Given the description of an element on the screen output the (x, y) to click on. 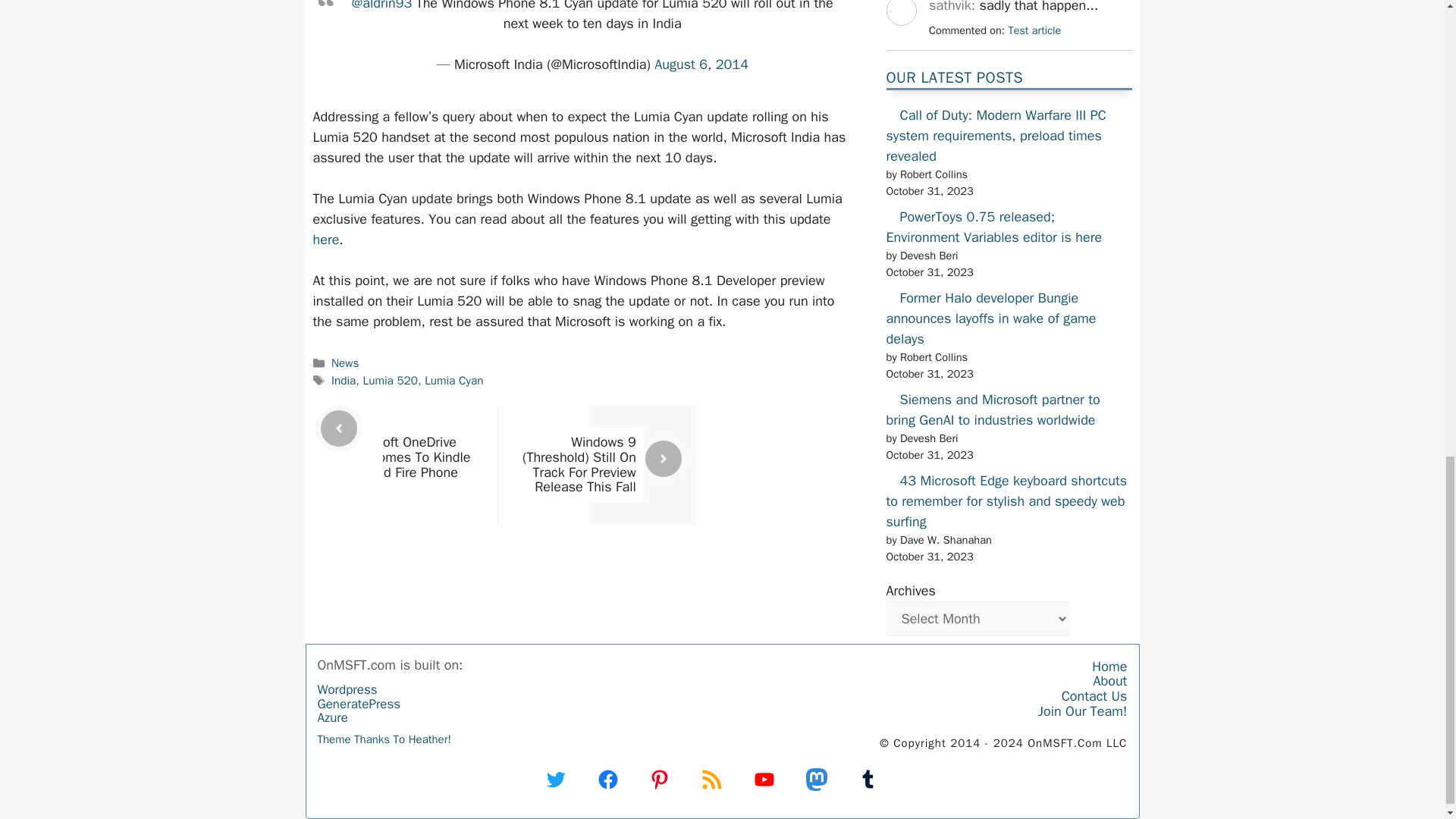
May 16, 2024 (1034, 29)
sathvik (900, 39)
